Given the description of an element on the screen output the (x, y) to click on. 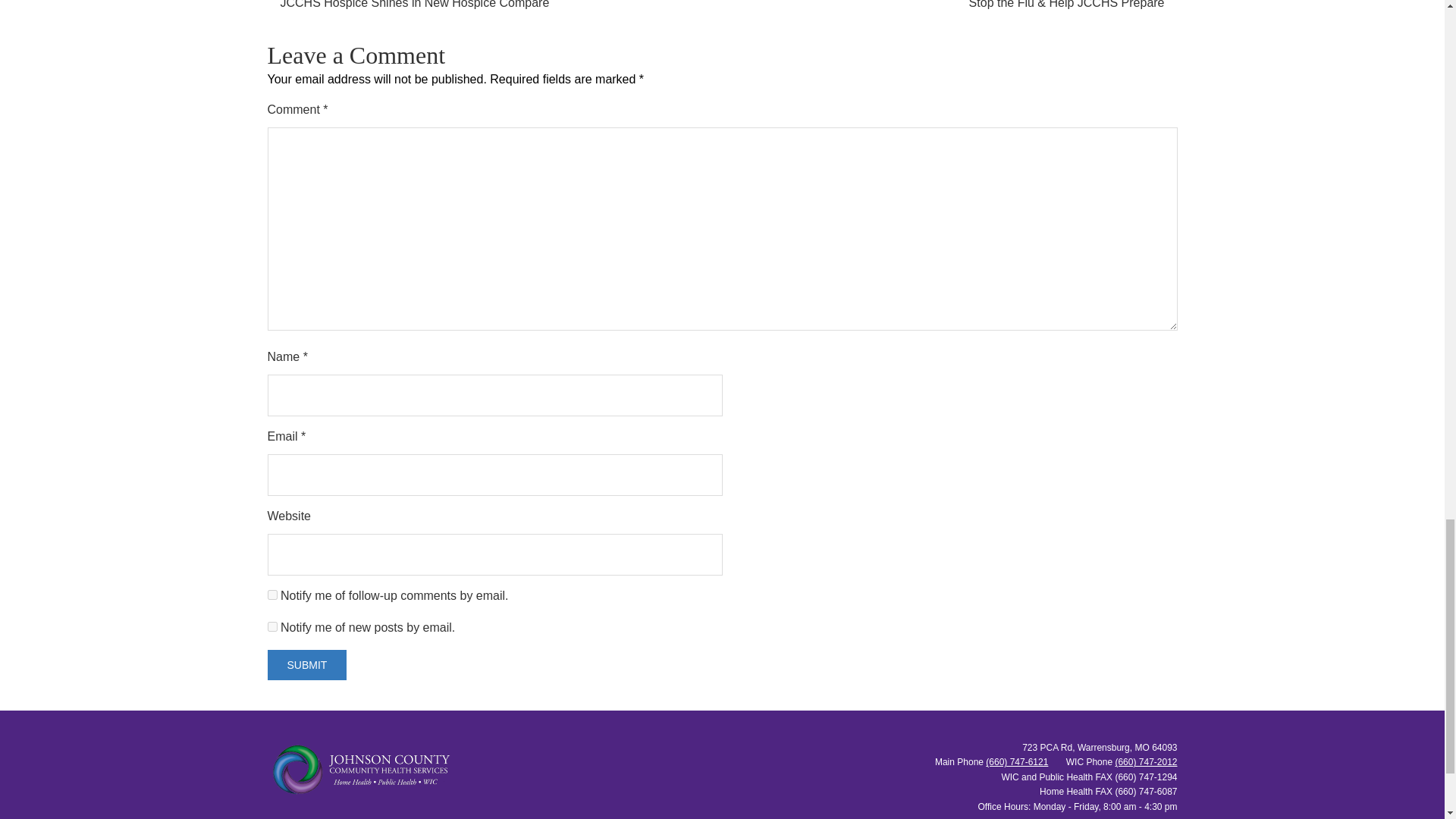
Submit (306, 665)
subscribe (271, 626)
subscribe (271, 594)
